Given the description of an element on the screen output the (x, y) to click on. 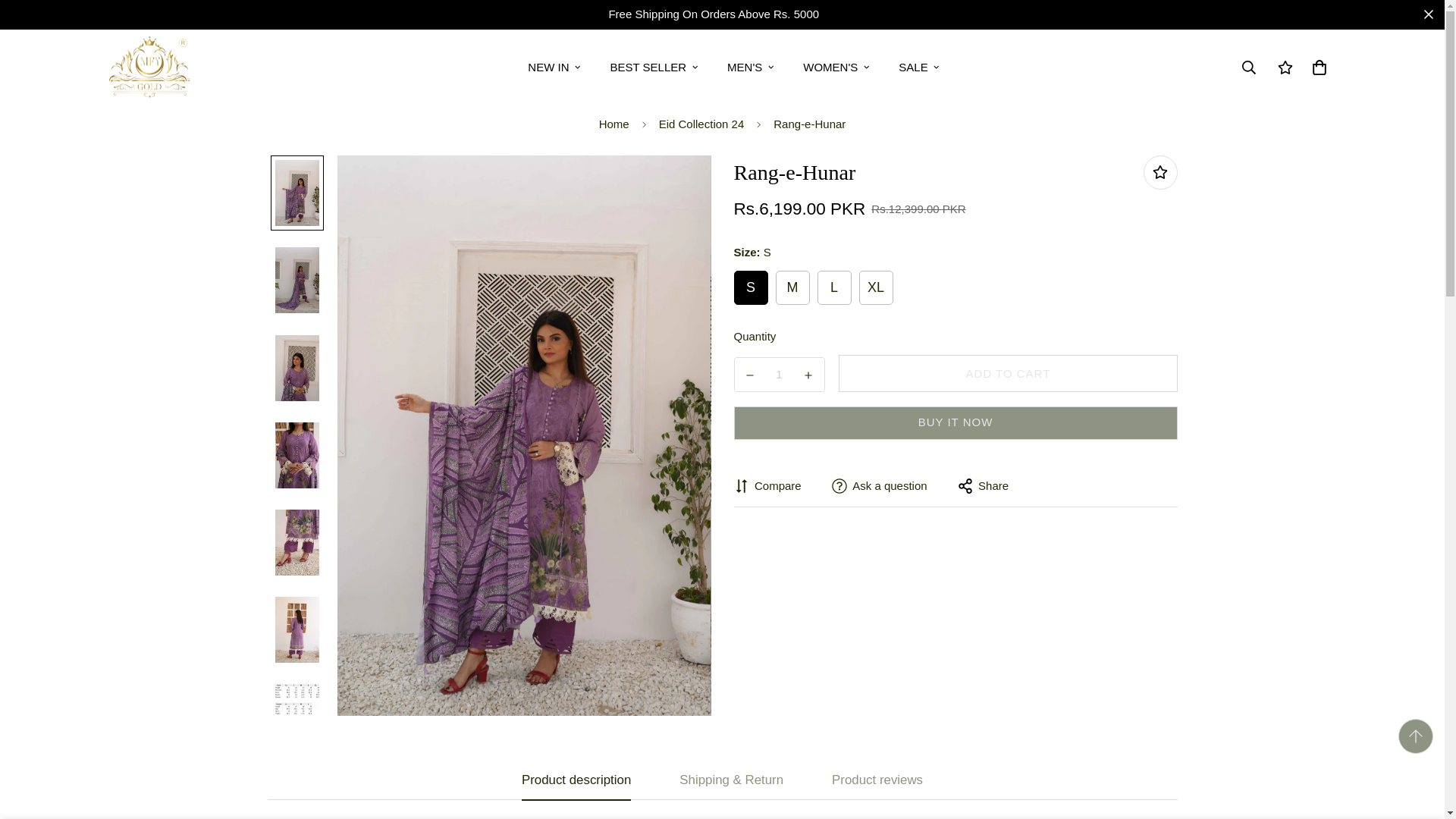
Mfy Gold (148, 66)
S (733, 67)
